Given the description of an element on the screen output the (x, y) to click on. 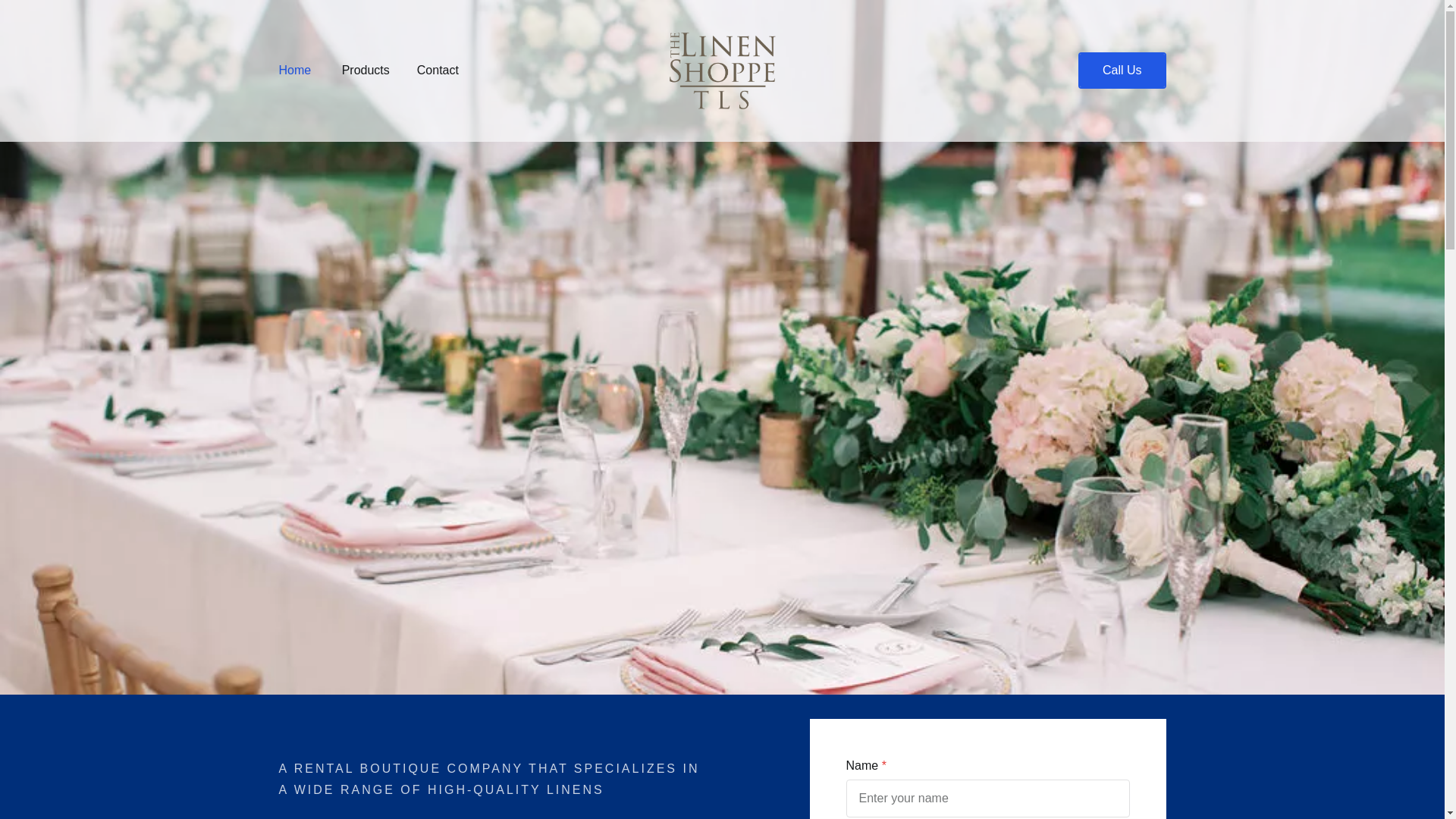
Products (366, 70)
Contact (437, 70)
Home (295, 70)
Call Us (1122, 70)
